Given the description of an element on the screen output the (x, y) to click on. 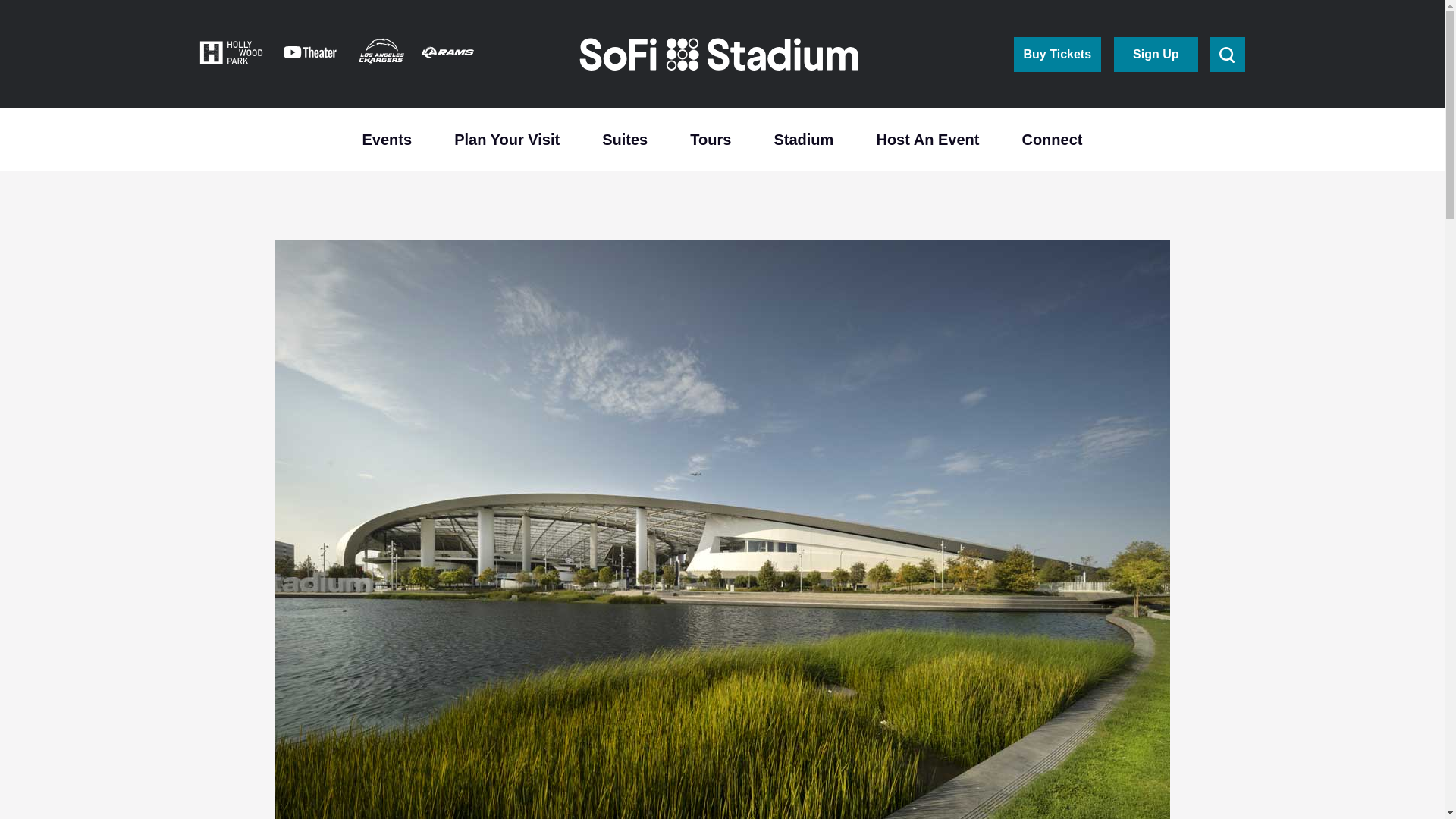
App (1154, 53)
Events (387, 138)
Plan Your Visit (506, 138)
SoFi Stadium (720, 54)
Buy Tickets (1057, 53)
Sign Up (1154, 53)
Suites (624, 138)
Buy Tickets (1057, 53)
